Given the description of an element on the screen output the (x, y) to click on. 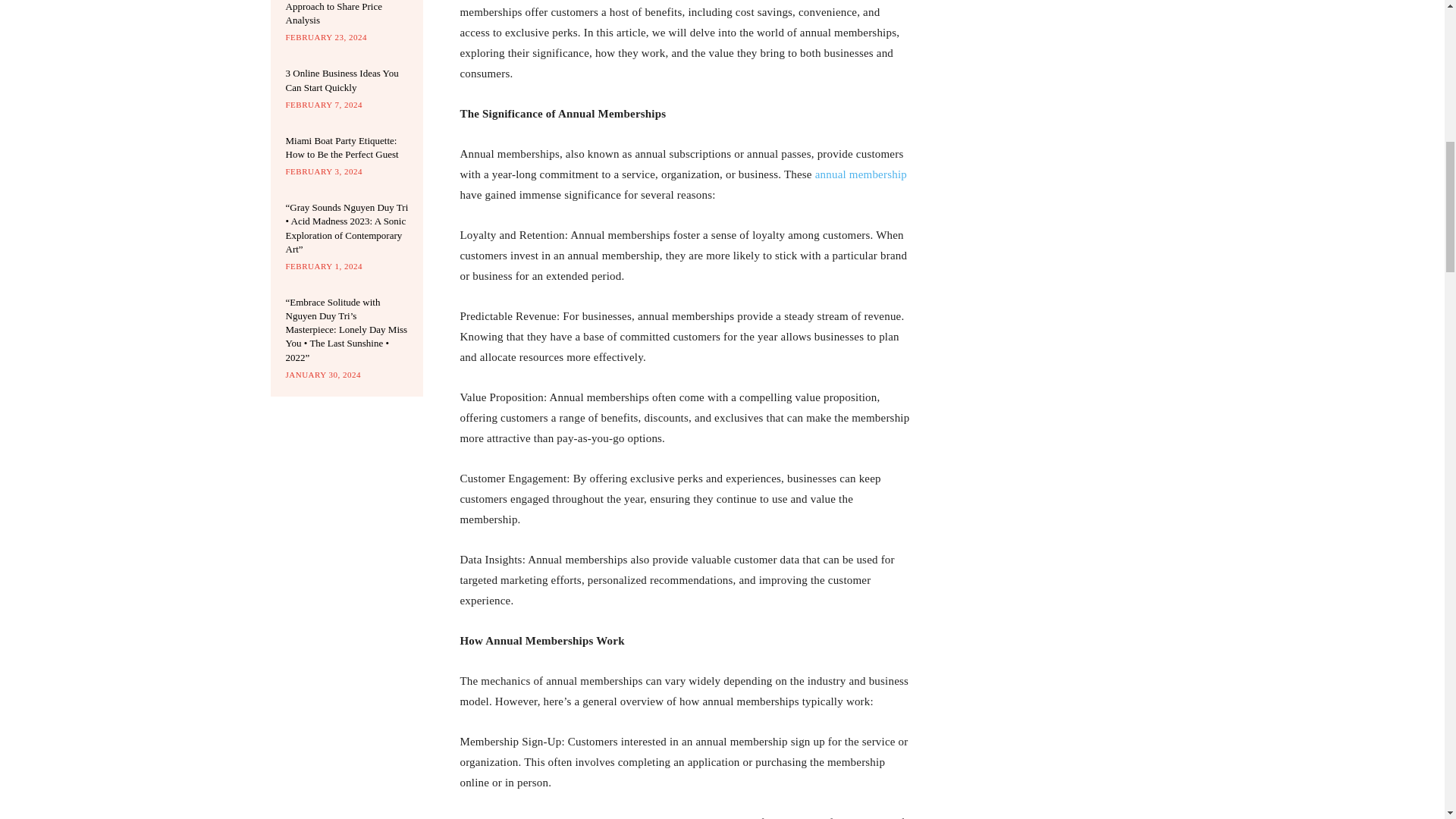
3 Online Business Ideas You Can Start Quickly (341, 79)
